Given the description of an element on the screen output the (x, y) to click on. 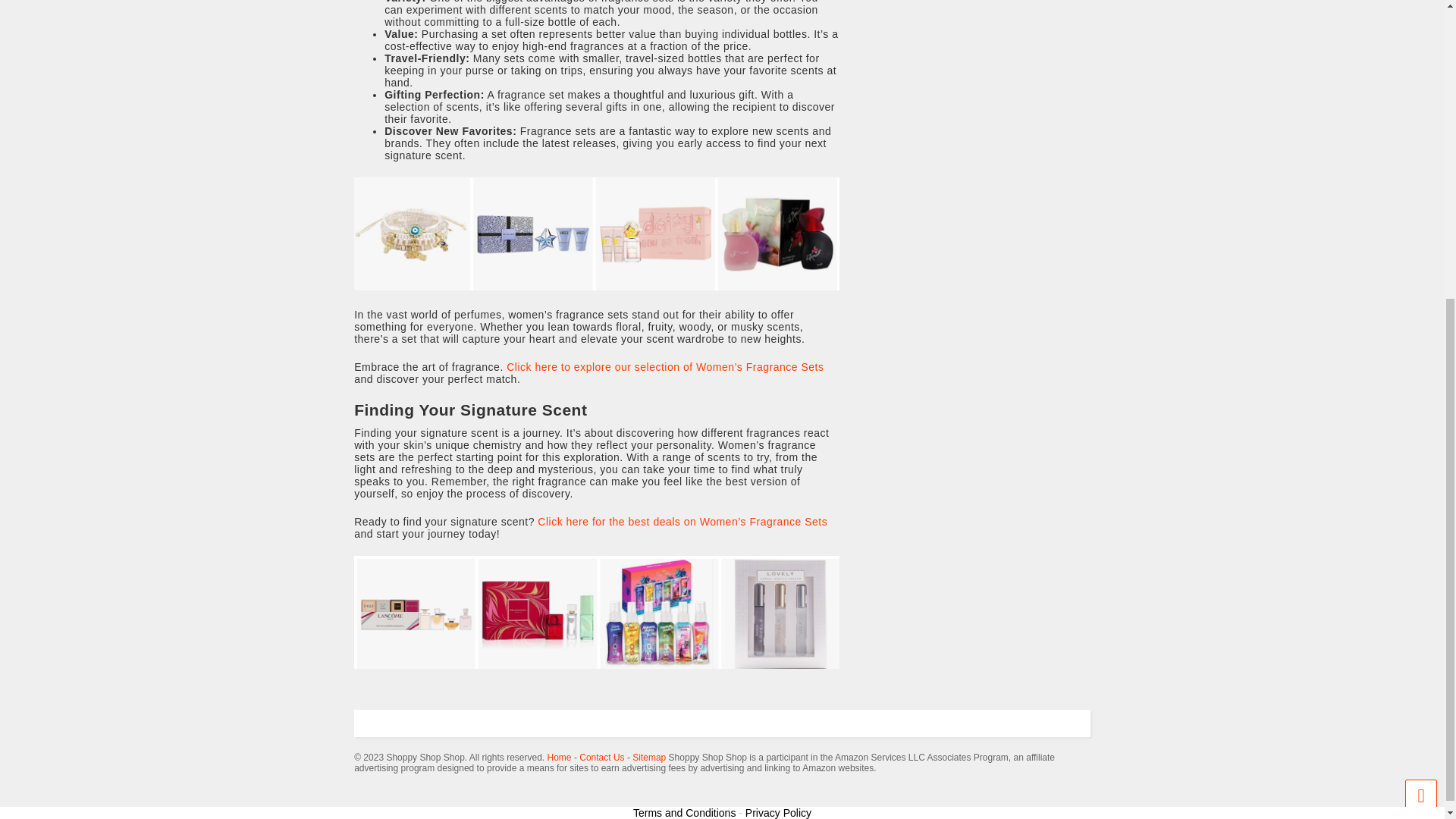
Contact Us (601, 757)
Home (559, 757)
Sitemap (648, 757)
